Given the description of an element on the screen output the (x, y) to click on. 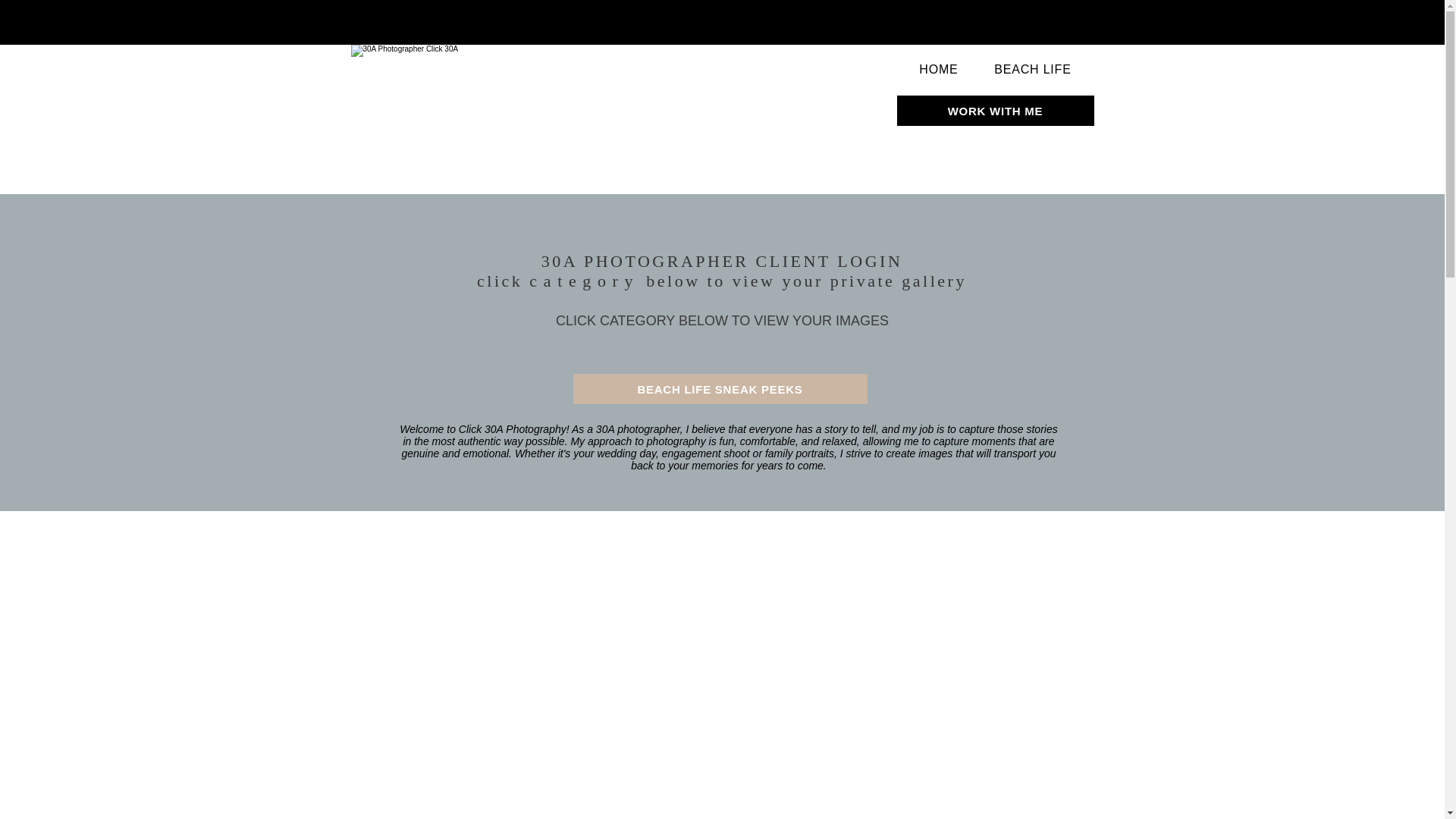
WORK WITH ME (994, 110)
HOME (938, 69)
BEACH LIFE SNEAK PEEKS (720, 388)
BEACH LIFE (1032, 69)
